Given the description of an element on the screen output the (x, y) to click on. 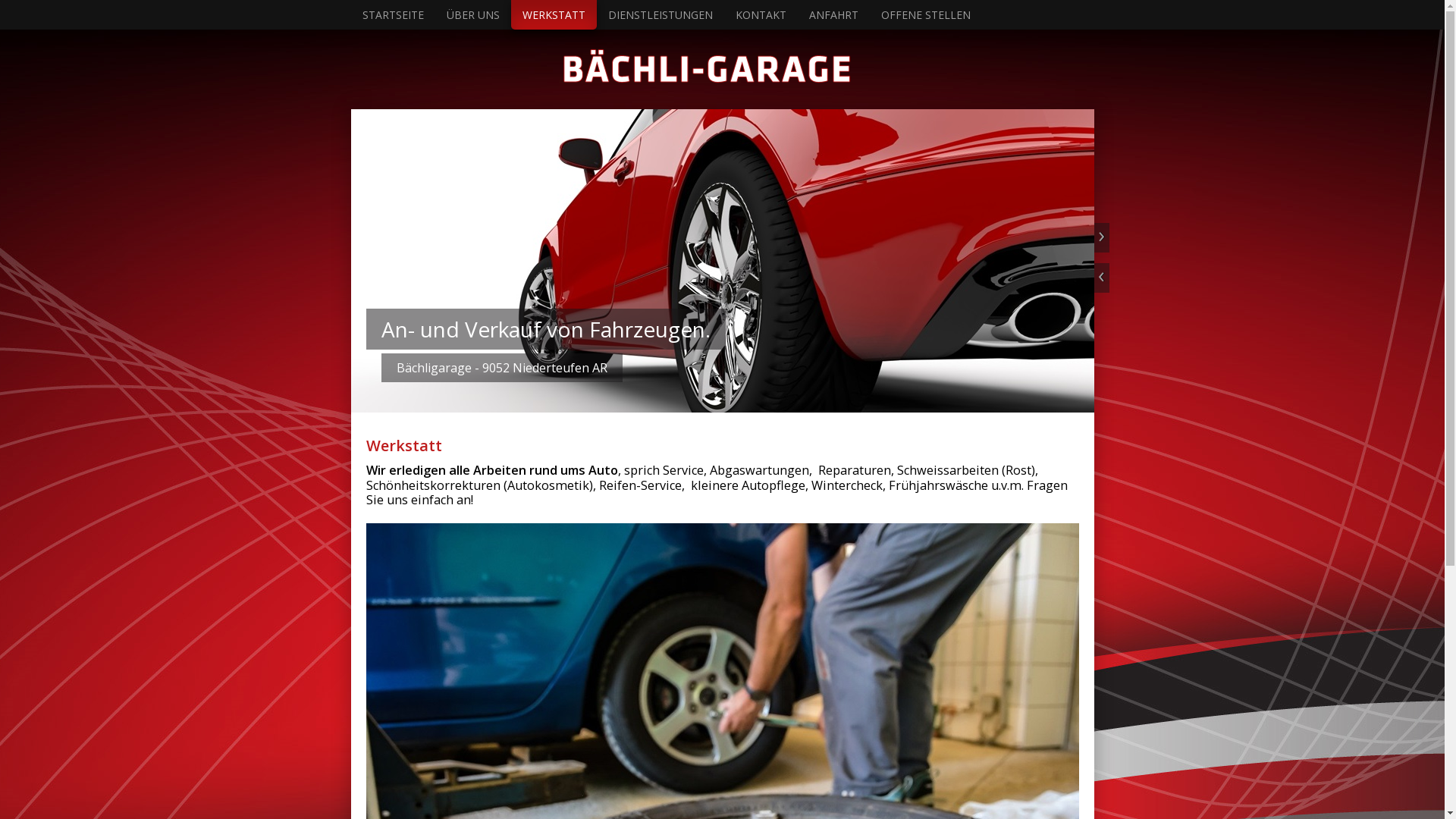
WERKSTATT Element type: text (553, 14)
DIENSTLEISTUNGEN Element type: text (659, 14)
ANFAHRT Element type: text (833, 14)
STARTSEITE Element type: text (392, 14)
OFFENE STELLEN Element type: text (925, 14)
weiter Element type: text (1100, 237)
KONTAKT Element type: text (760, 14)
